Given the description of an element on the screen output the (x, y) to click on. 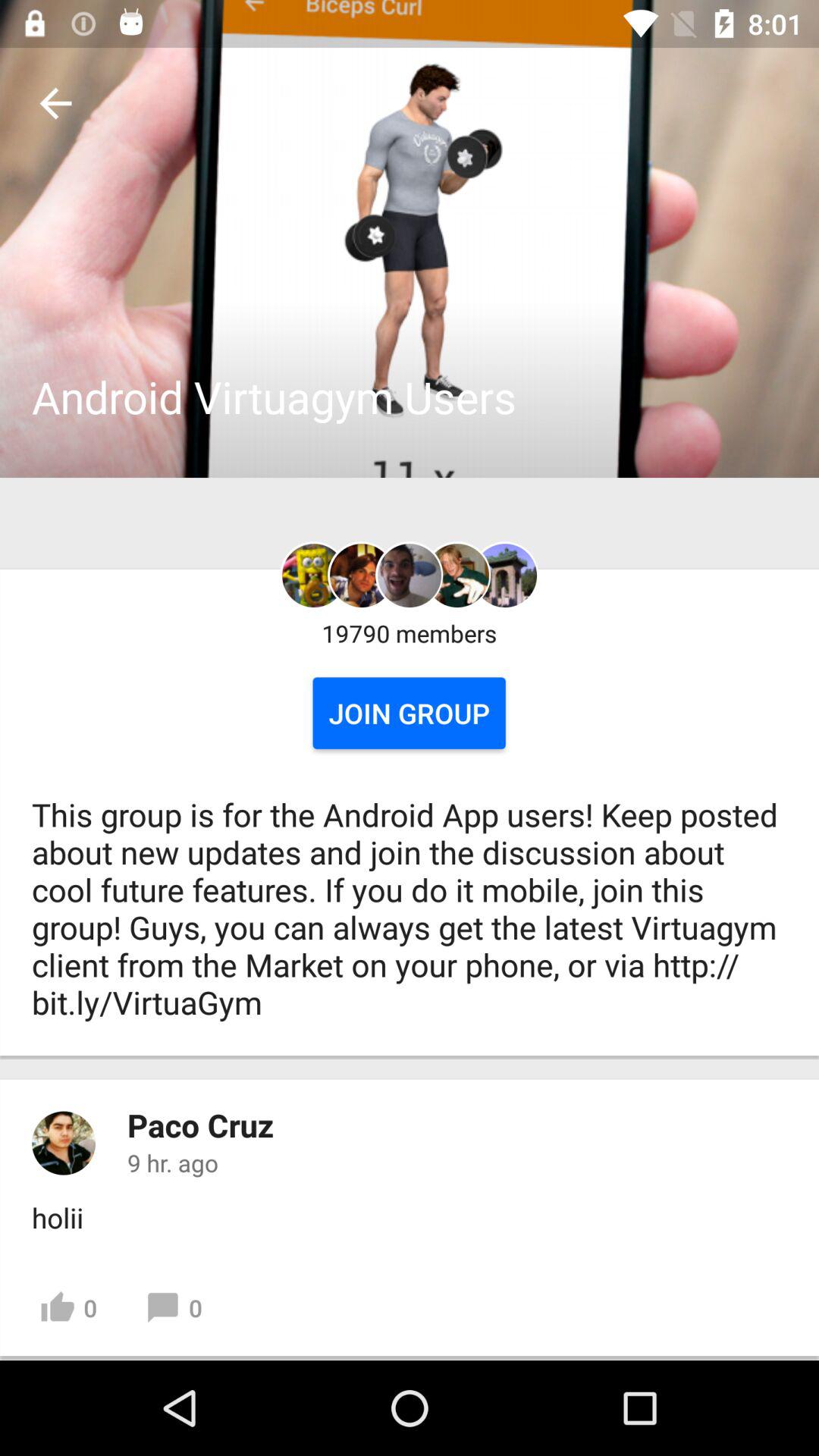
click join group option (408, 713)
